Given the description of an element on the screen output the (x, y) to click on. 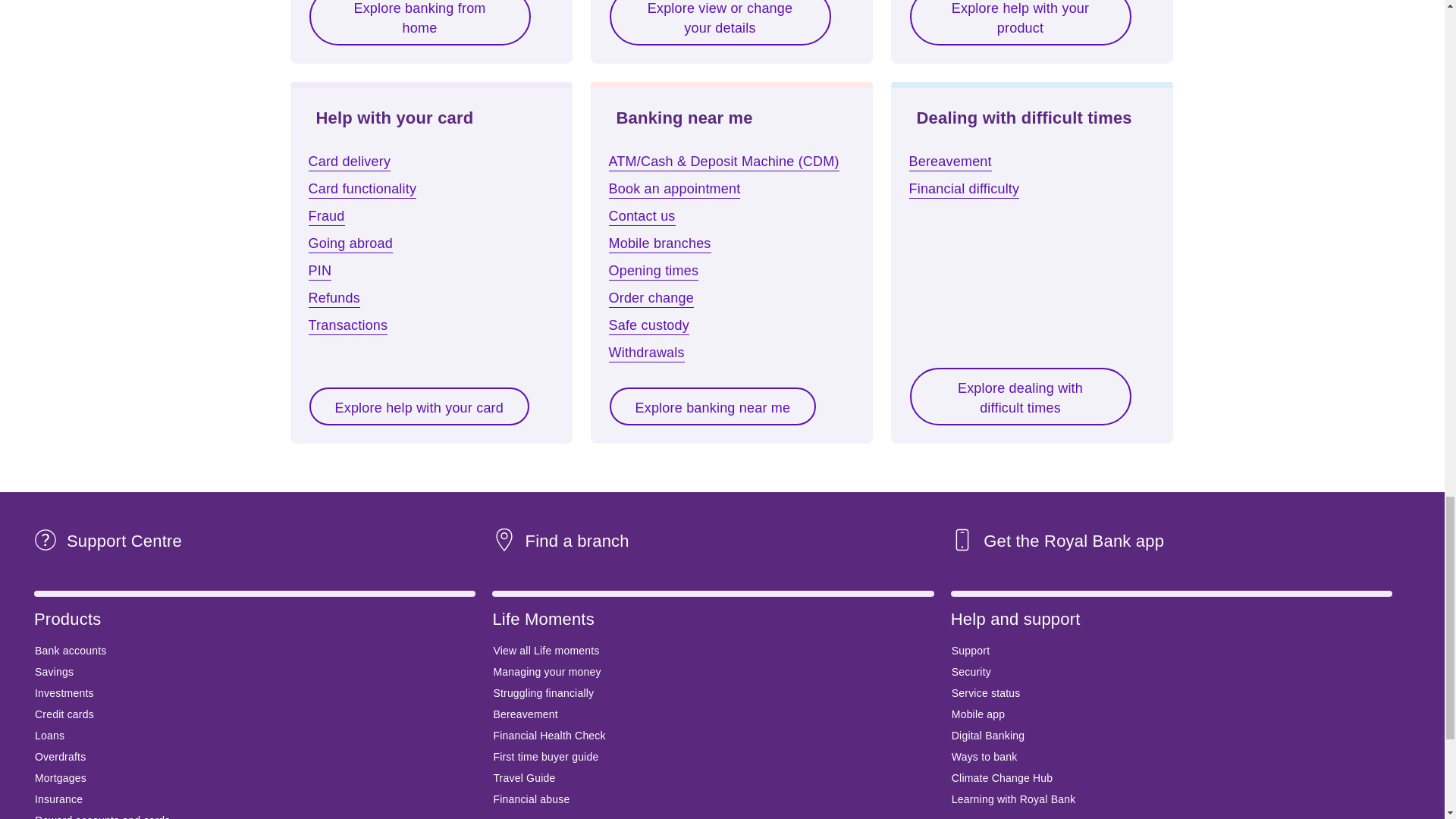
Explore banking near me (712, 406)
Explore view or change your details (719, 24)
Explore help with your card (418, 406)
Explore dealing with difficult times (1019, 396)
Explore banking from home (419, 24)
Explore help with your product (1019, 24)
